Given the description of an element on the screen output the (x, y) to click on. 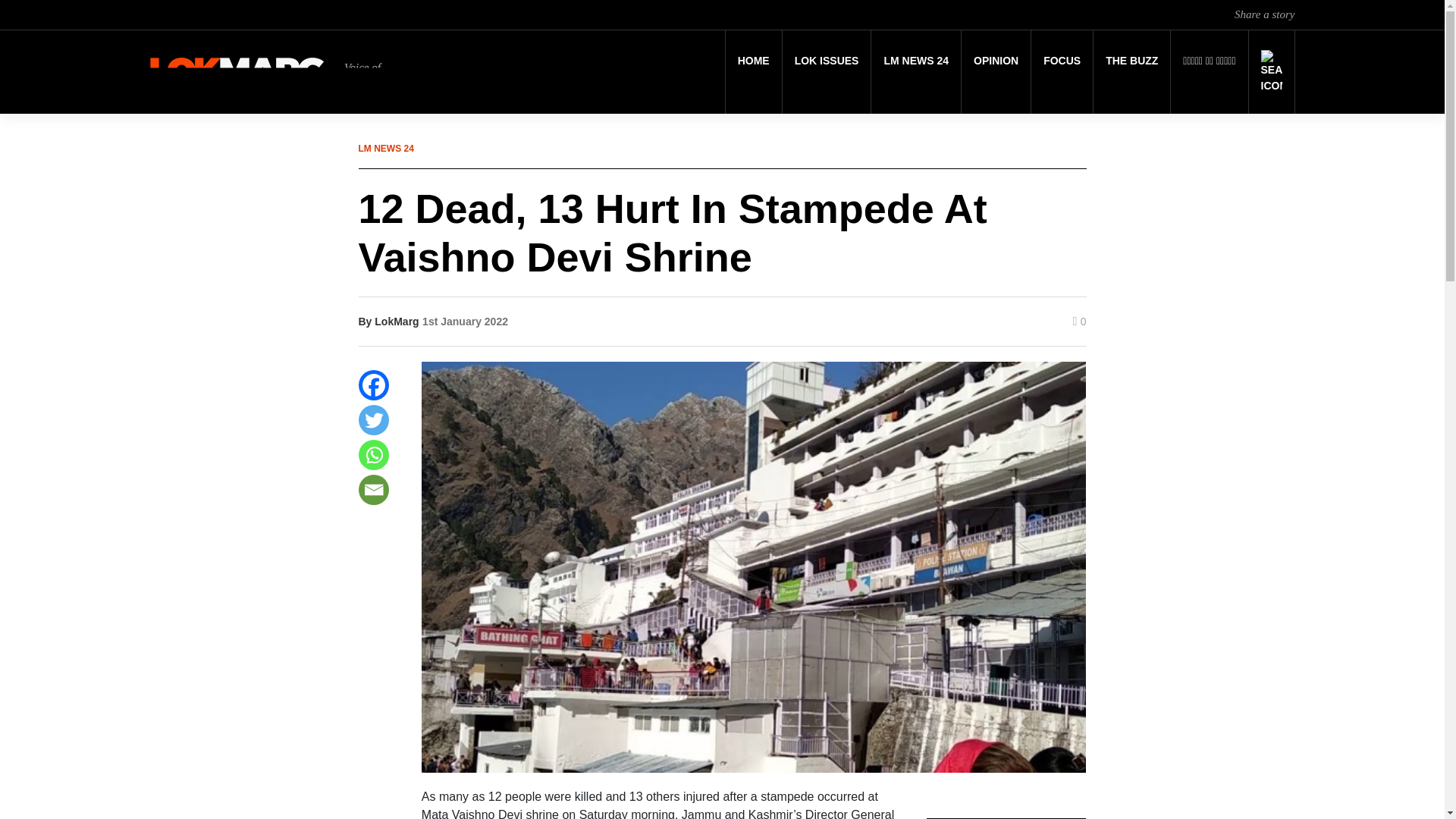
OPINION (995, 60)
Home (753, 60)
LokMarg (396, 321)
Twitter (373, 419)
THE BUZZ (1131, 60)
Focus (1061, 60)
Share a story (1264, 14)
THE BUZZ (1131, 60)
Lok Issues (826, 60)
LM News 24 (915, 60)
